Given the description of an element on the screen output the (x, y) to click on. 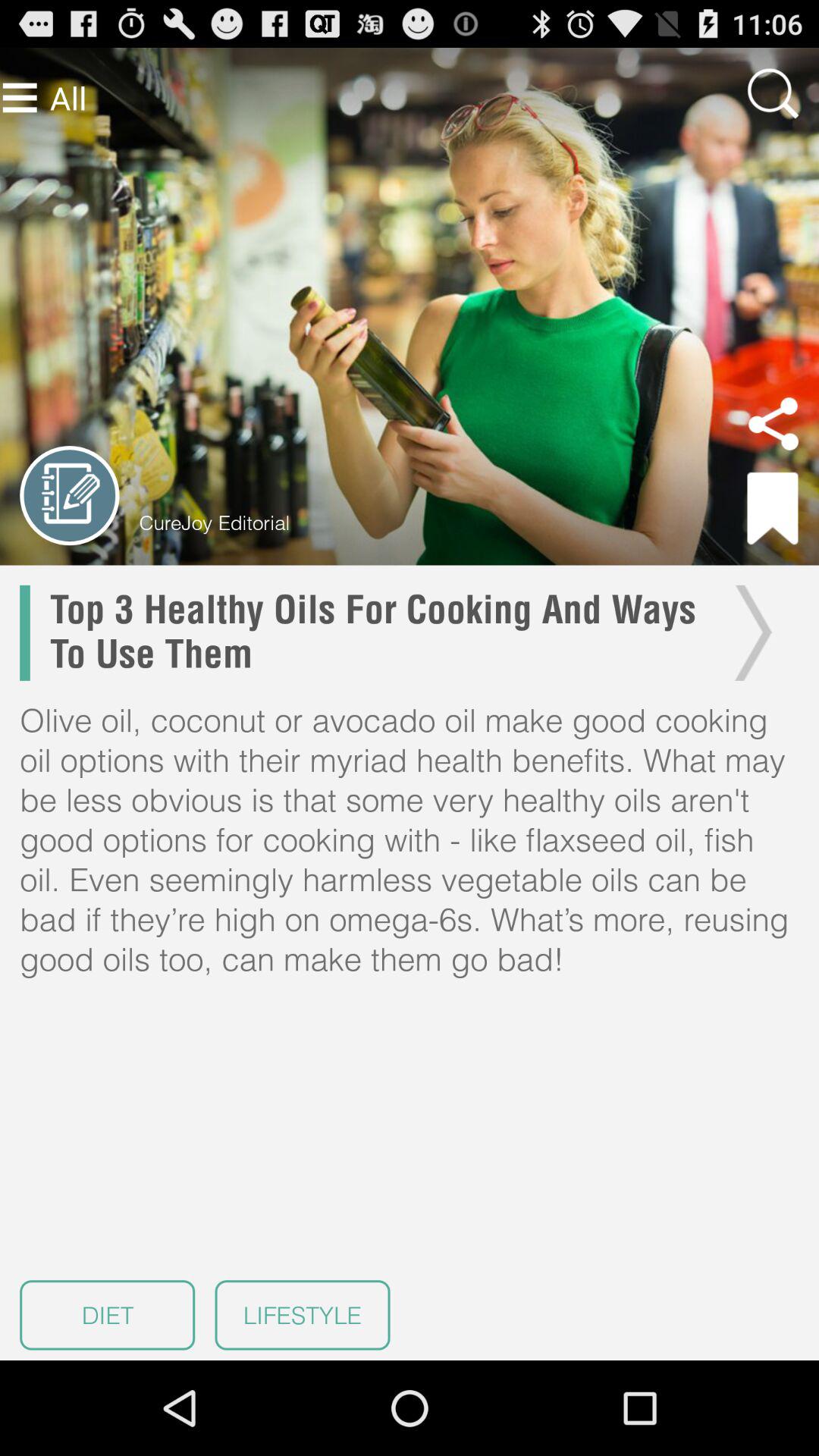
start a search (773, 93)
